Given the description of an element on the screen output the (x, y) to click on. 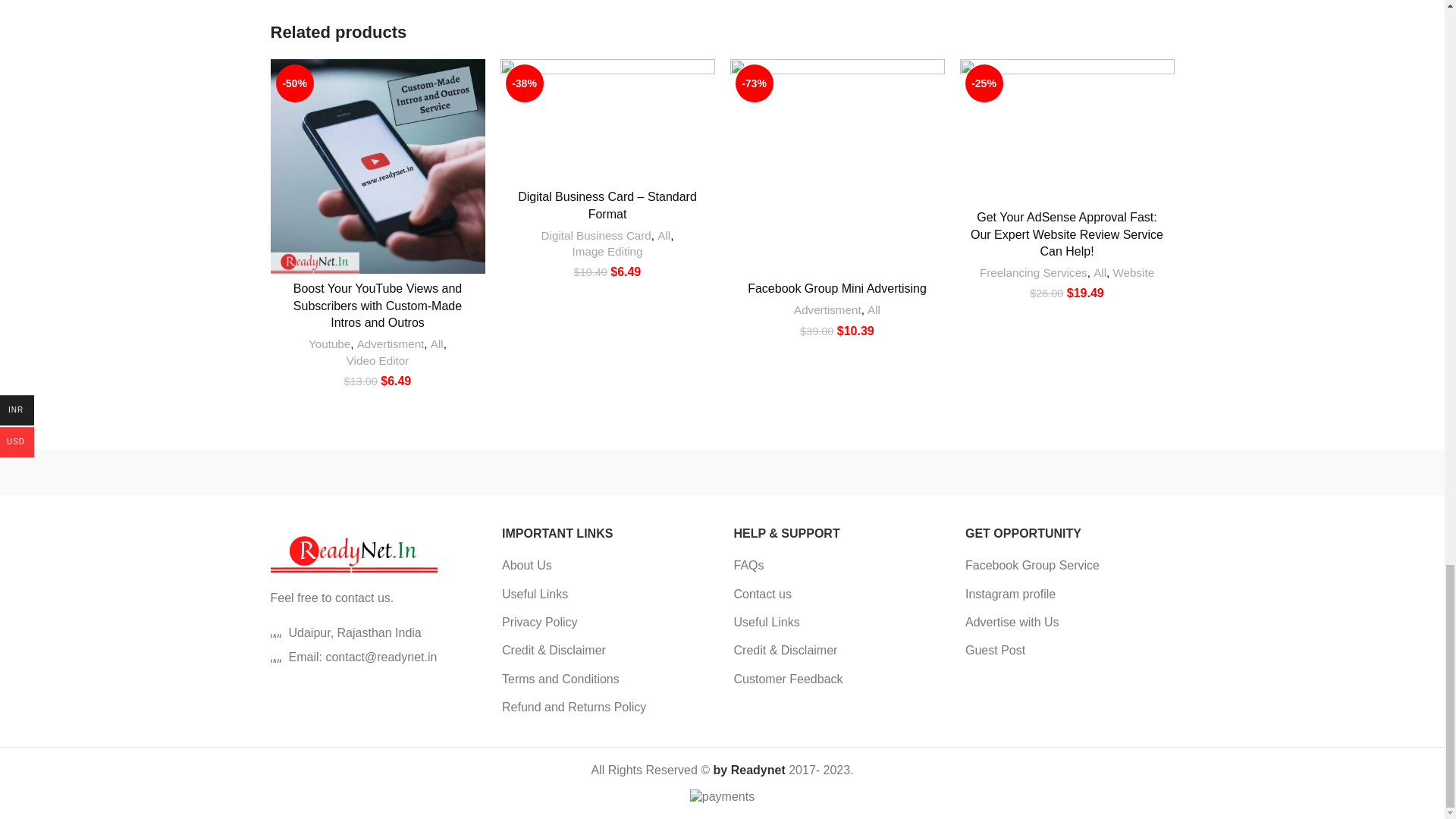
wd-cursor-dark (275, 632)
Just command (333, 472)
wd-envelope-dark (275, 656)
